Given the description of an element on the screen output the (x, y) to click on. 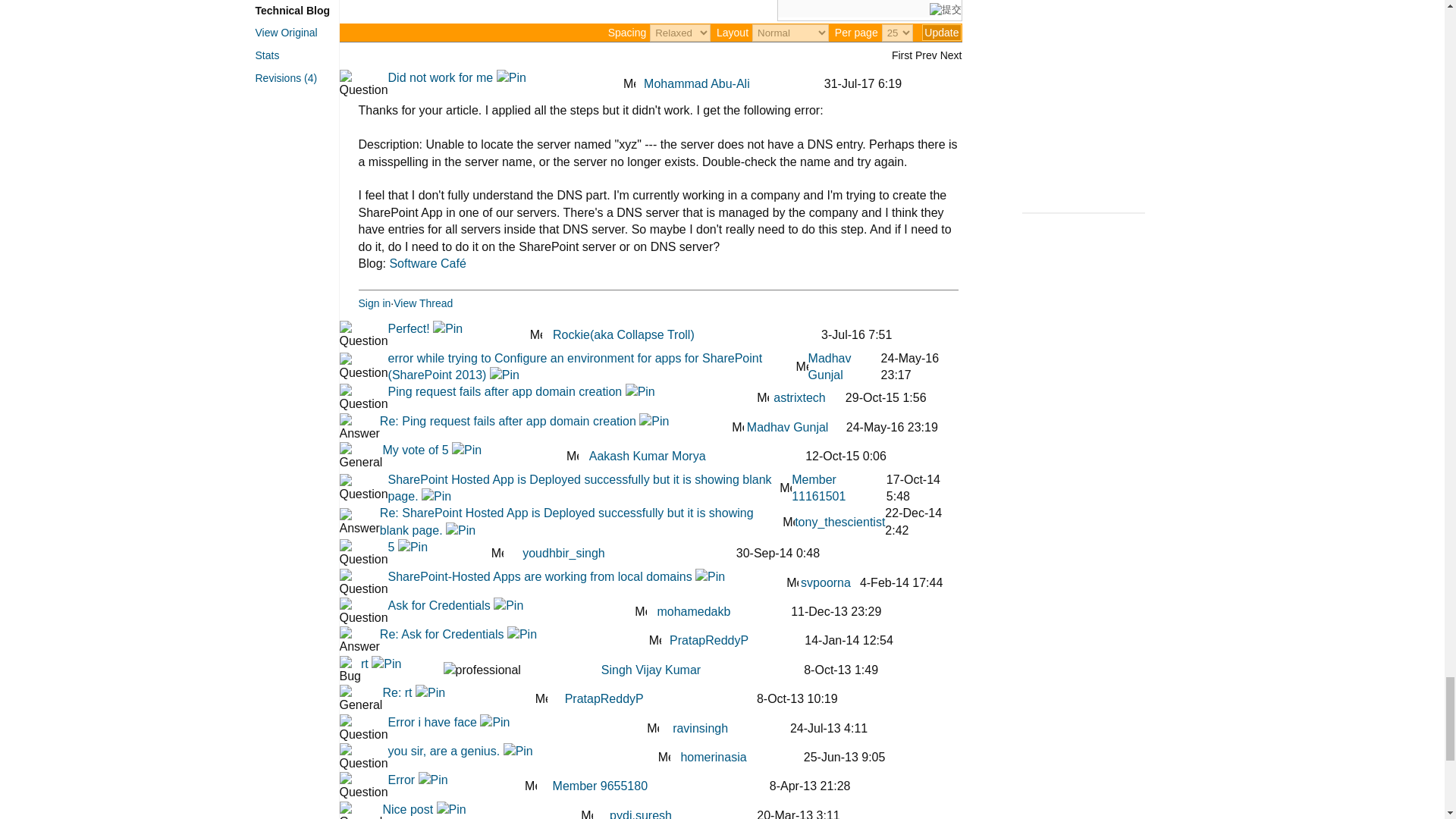
Question (363, 335)
Member (628, 81)
Update (940, 32)
Question (363, 83)
Click to pin message (510, 77)
